Given the description of an element on the screen output the (x, y) to click on. 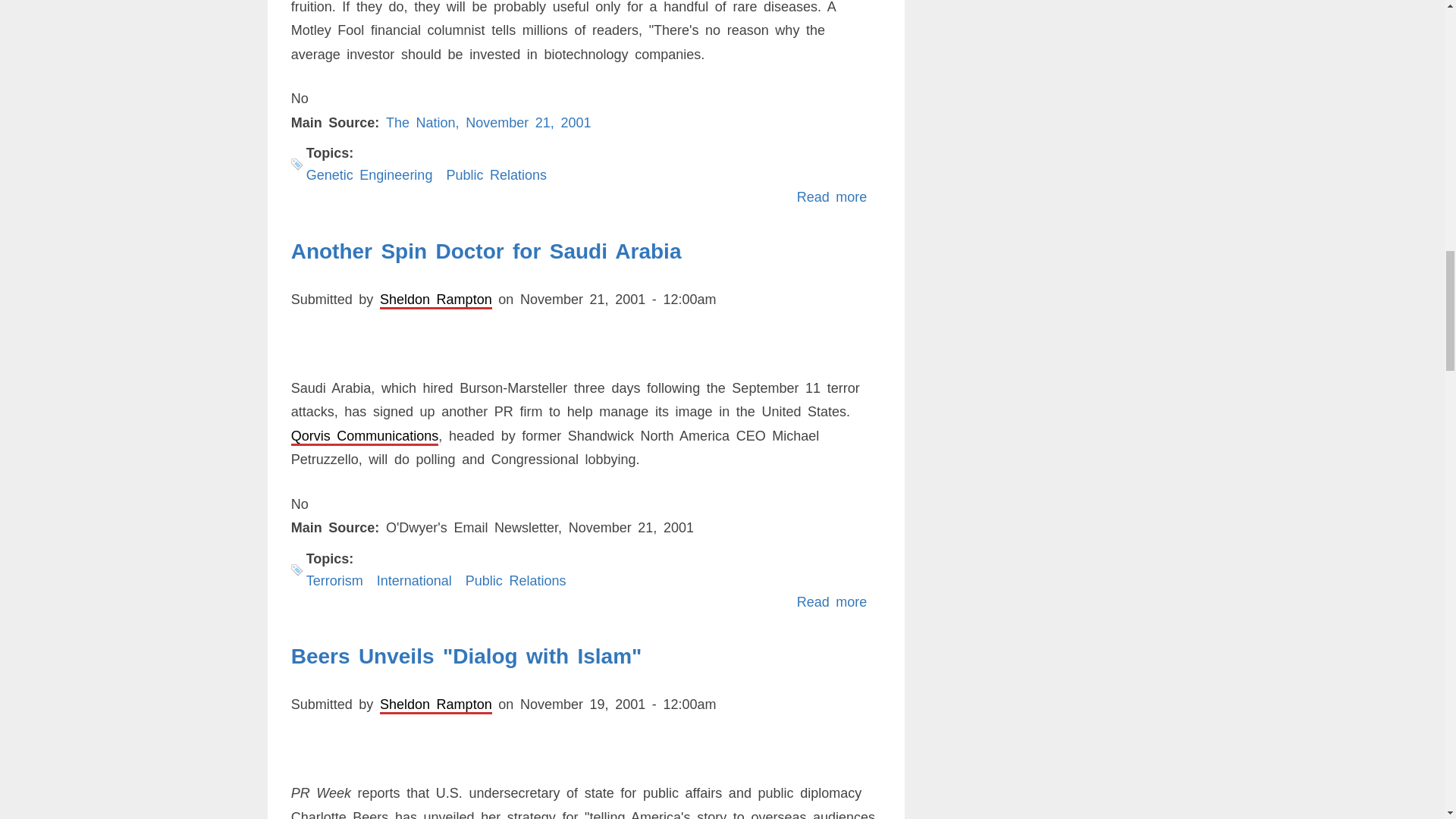
The Nation, November 21, 2001 (488, 122)
Public Relations (496, 174)
Genetic Engineering (368, 174)
